Given the description of an element on the screen output the (x, y) to click on. 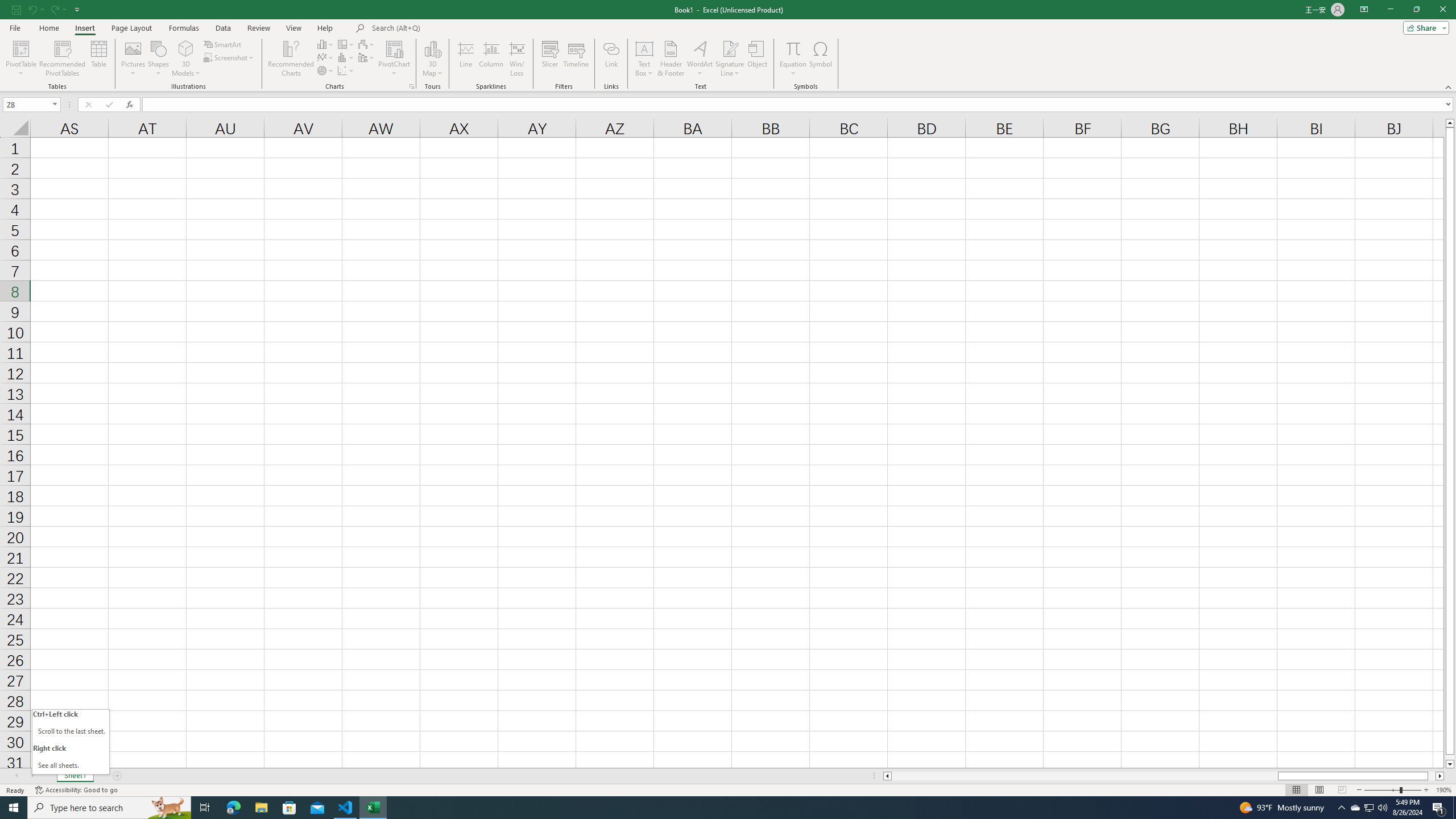
Win/Loss (516, 58)
PivotTable (20, 58)
Zoom In (1426, 790)
Draw Horizontal Text Box (643, 48)
Open (54, 104)
3D Map (432, 58)
Minimize (1390, 9)
Add Sheet (117, 775)
Collapse the Ribbon (1448, 86)
Column right (1440, 775)
Scroll Right (32, 775)
Line down (1449, 764)
